Given the description of an element on the screen output the (x, y) to click on. 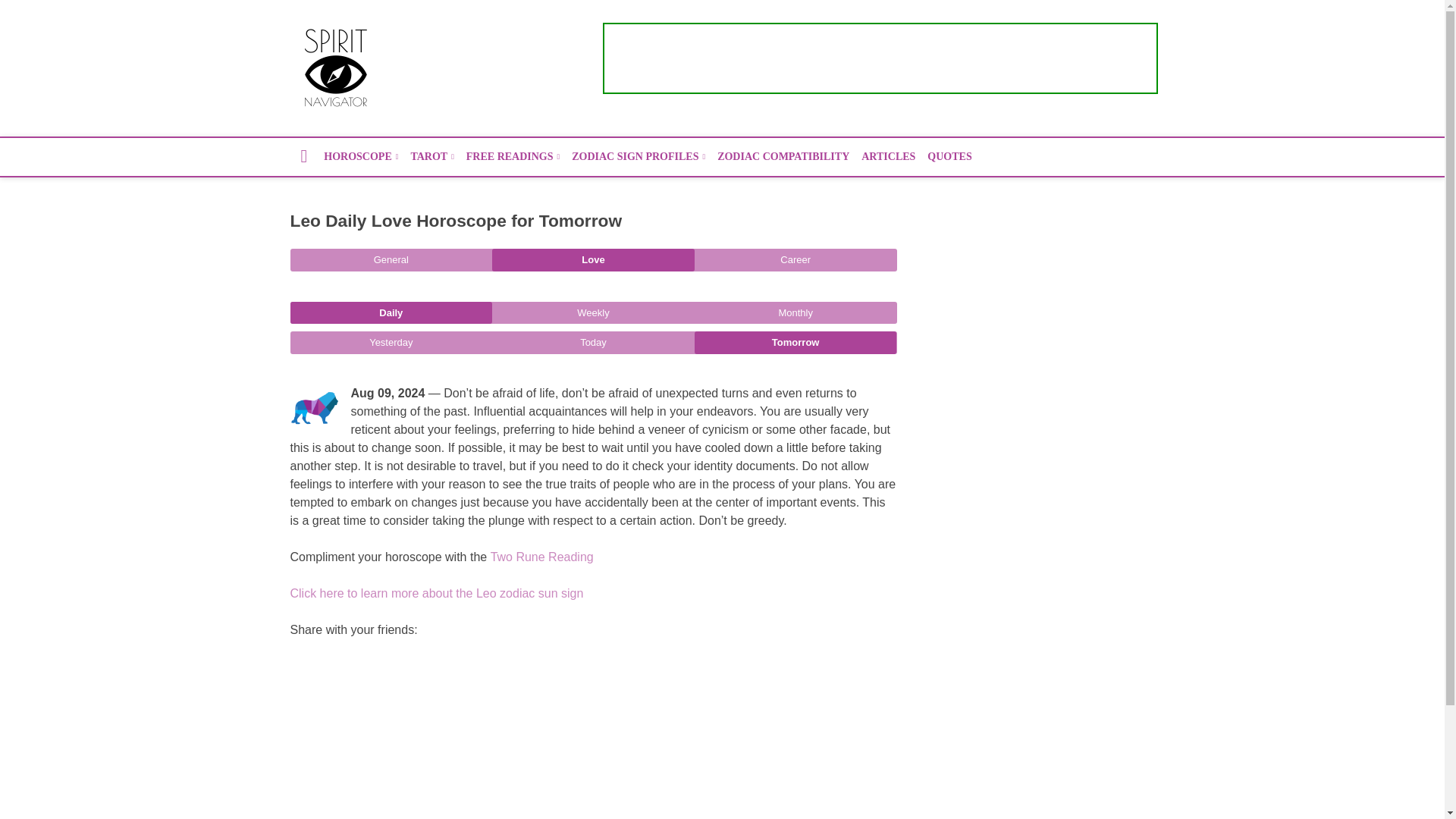
FREE READINGS (513, 157)
Menu (1142, 68)
HOROSCOPE (360, 157)
ZODIAC SIGN PROFILES (638, 157)
TAROT (432, 157)
